Given the description of an element on the screen output the (x, y) to click on. 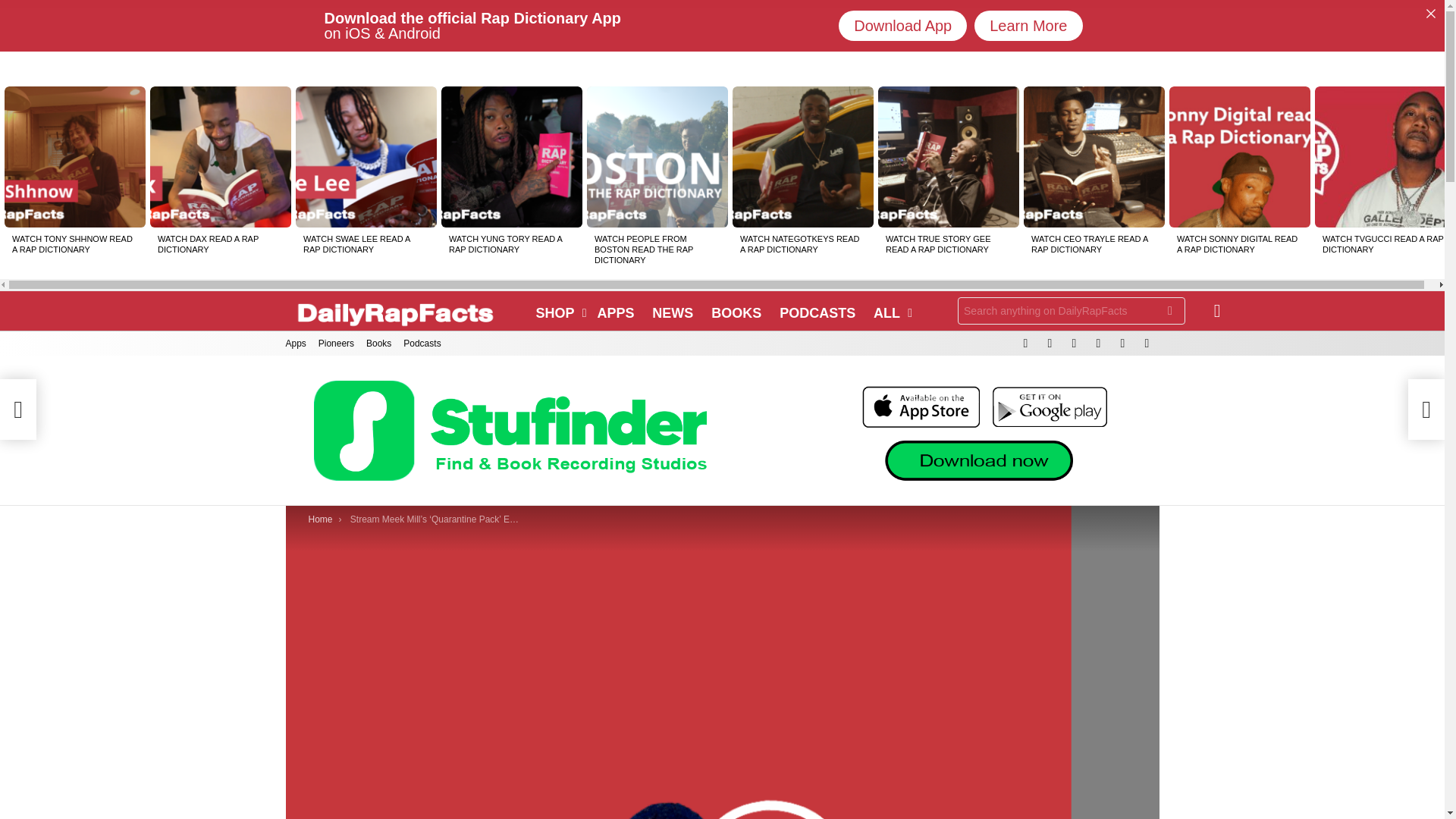
BOOKS (735, 312)
SHOP (556, 312)
Watch NateGotKeys read a Rap Dictionary (802, 156)
Download Stufinder (848, 14)
Watch Swae Lee read a Rap Dictionary (365, 156)
Watch people from Boston read the Rap Dictionary (657, 156)
Watch Dax read a Rap Dictionary (220, 156)
NEWS (672, 312)
PODCASTS (817, 312)
Watch Yung Tory read a Rap Dictionary (511, 156)
